Given the description of an element on the screen output the (x, y) to click on. 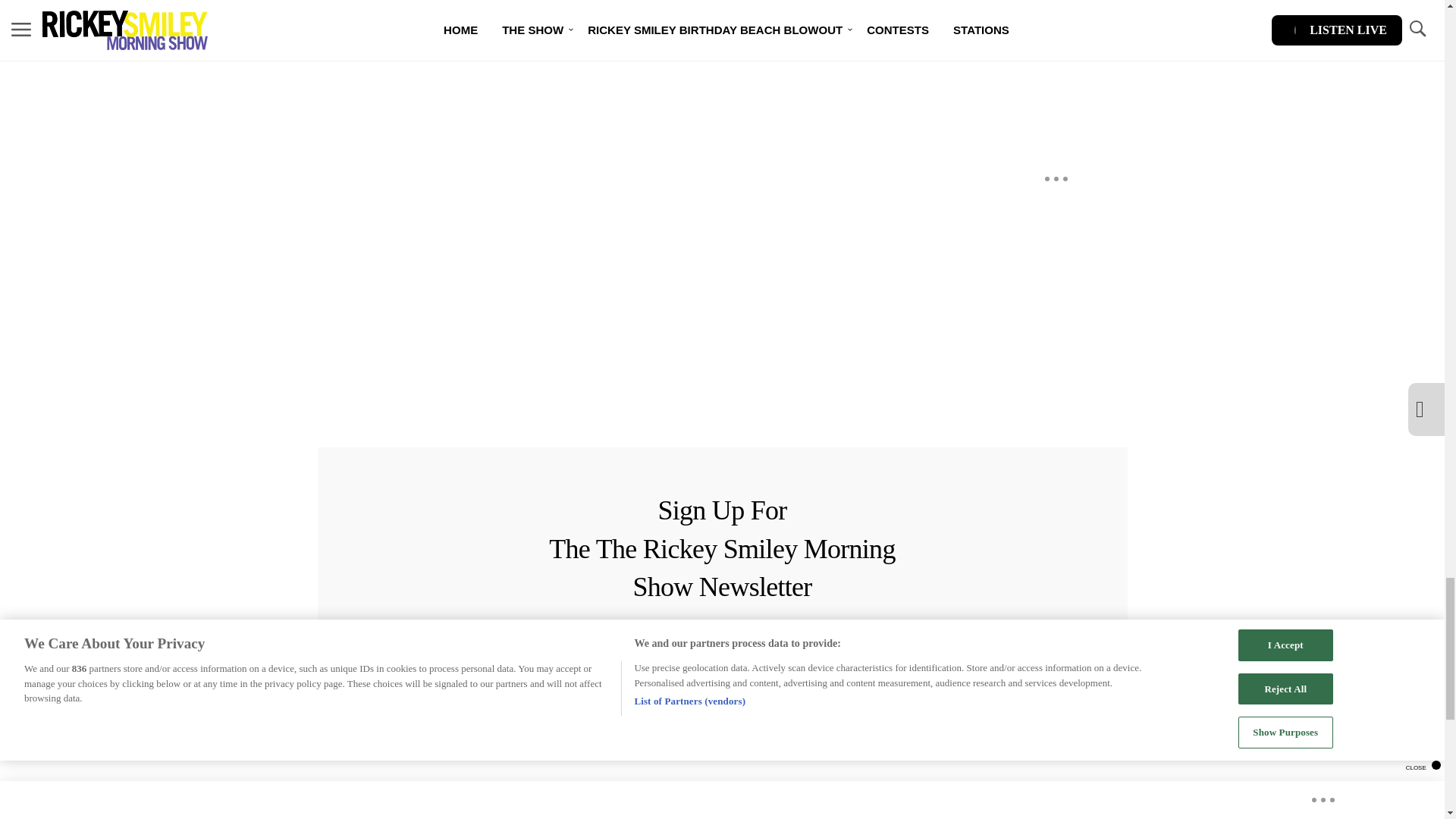
Vuukle Comments Widget (585, 61)
